Given the description of an element on the screen output the (x, y) to click on. 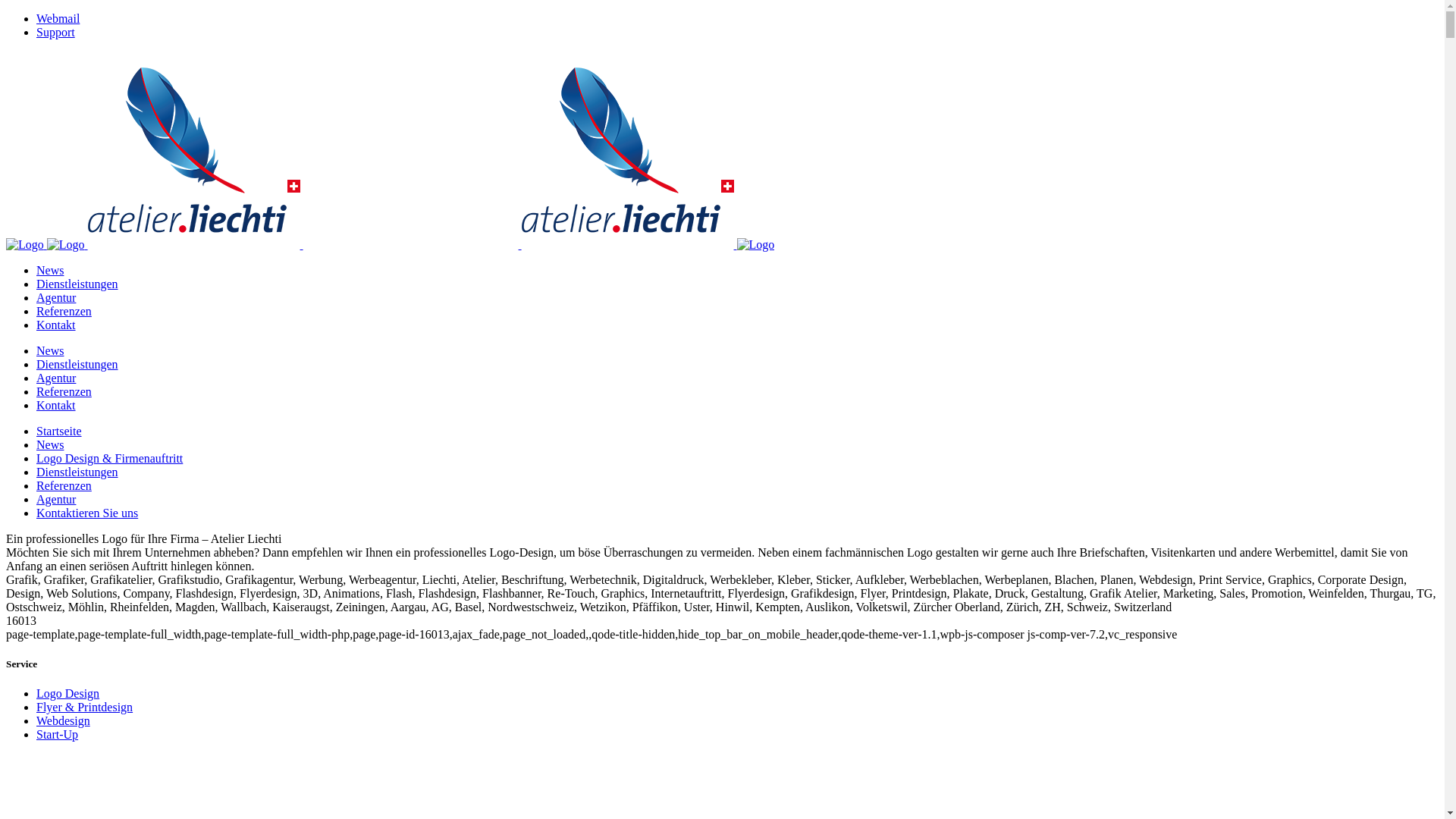
News Element type: text (49, 350)
Referenzen Element type: text (63, 391)
Referenzen Element type: text (63, 310)
Kontakt Element type: text (55, 404)
Dienstleistungen Element type: text (77, 283)
Referenzen Element type: text (63, 485)
Dienstleistungen Element type: text (77, 471)
Webmail Element type: text (57, 18)
News Element type: text (49, 444)
Dienstleistungen Element type: text (77, 363)
Support Element type: text (55, 31)
Kontakt Element type: text (55, 324)
Agentur Element type: text (55, 377)
Logo Design & Firmenauftritt Element type: text (109, 457)
Agentur Element type: text (55, 498)
Webdesign Element type: text (63, 720)
Startseite Element type: text (58, 430)
Kontaktieren Sie uns Element type: text (87, 512)
Logo Design Element type: text (67, 693)
Agentur Element type: text (55, 297)
News Element type: text (49, 269)
Start-Up Element type: text (57, 734)
Flyer & Printdesign Element type: text (84, 706)
